Given the description of an element on the screen output the (x, y) to click on. 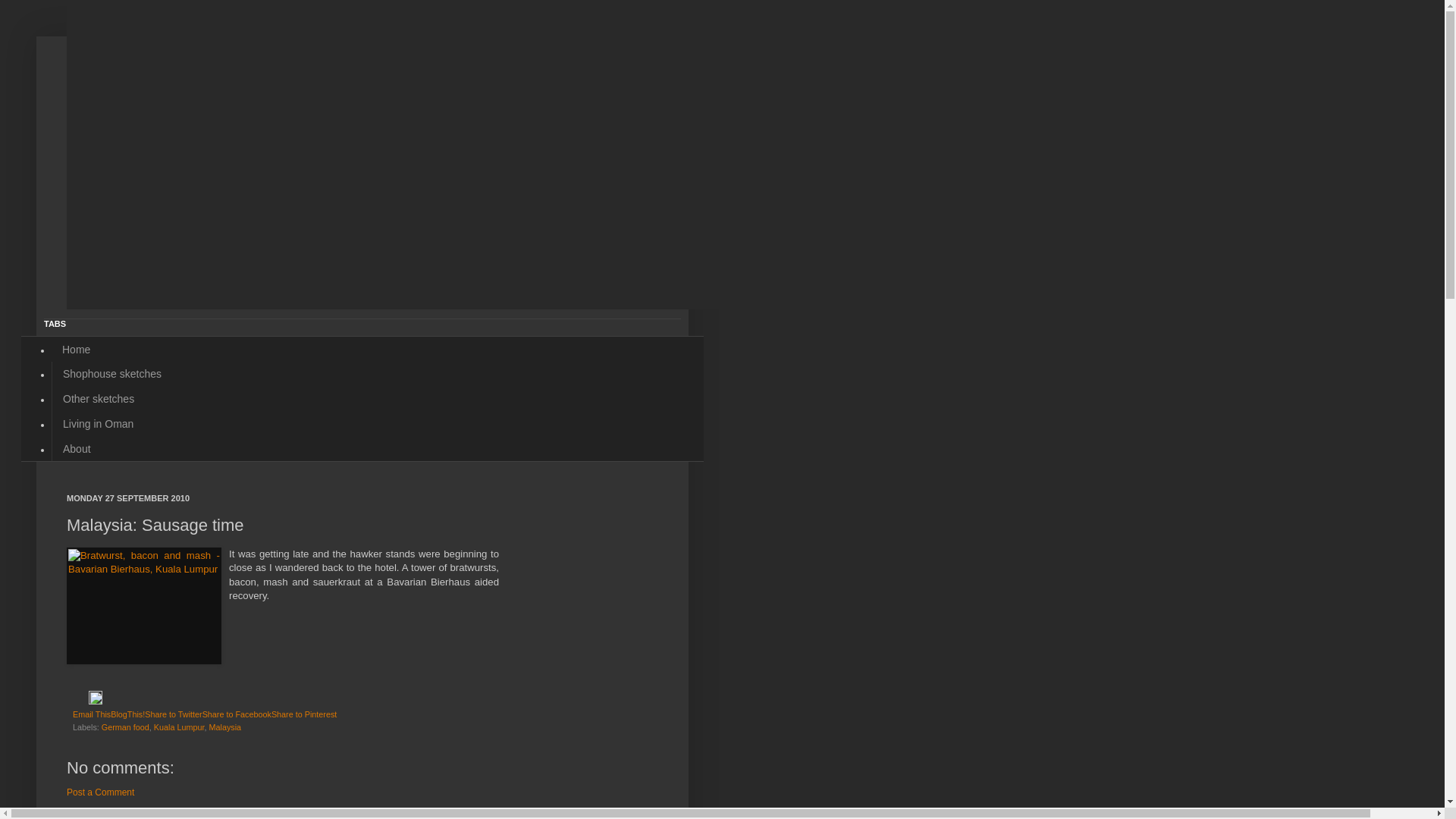
Post a Comment Element type: text (100, 792)
Home Element type: text (75, 348)
Shophouse sketches Element type: text (111, 373)
Living in Oman Element type: text (97, 423)
Living in Singapore Element type: text (259, 107)
Malaysia Element type: text (224, 726)
German food Element type: text (125, 726)
Edit Post Element type: hover (95, 701)
About Element type: text (76, 448)
Other sketches Element type: text (97, 398)
Email This Element type: text (91, 713)
Share to Pinterest Element type: text (303, 713)
Kuala Lumpur Element type: text (178, 726)
Share to Facebook Element type: text (236, 713)
Share to Twitter Element type: text (172, 713)
BlogThis! Element type: text (127, 713)
Email Post Element type: hover (80, 701)
